Given the description of an element on the screen output the (x, y) to click on. 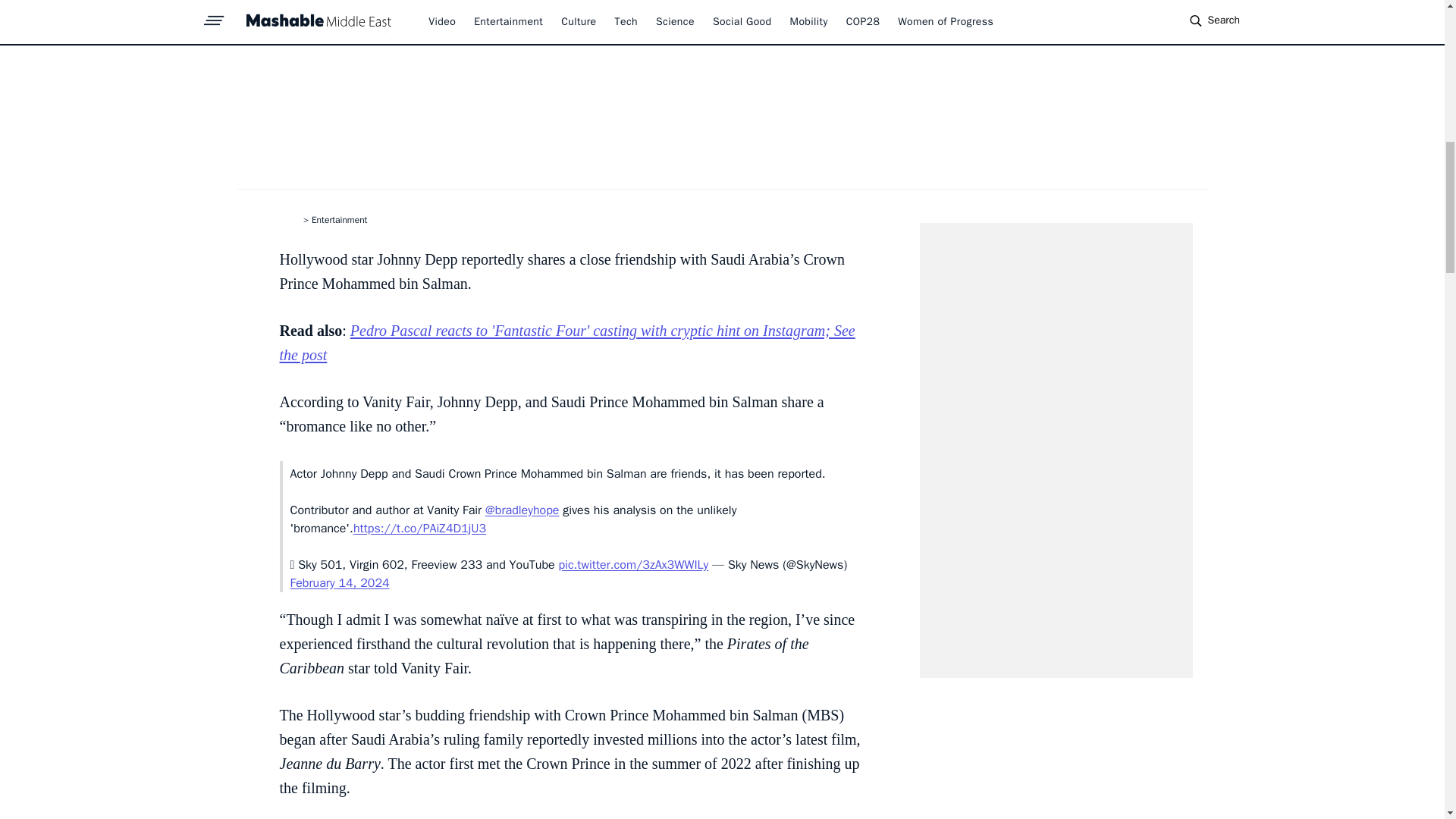
February 14, 2024 (338, 582)
